Given the description of an element on the screen output the (x, y) to click on. 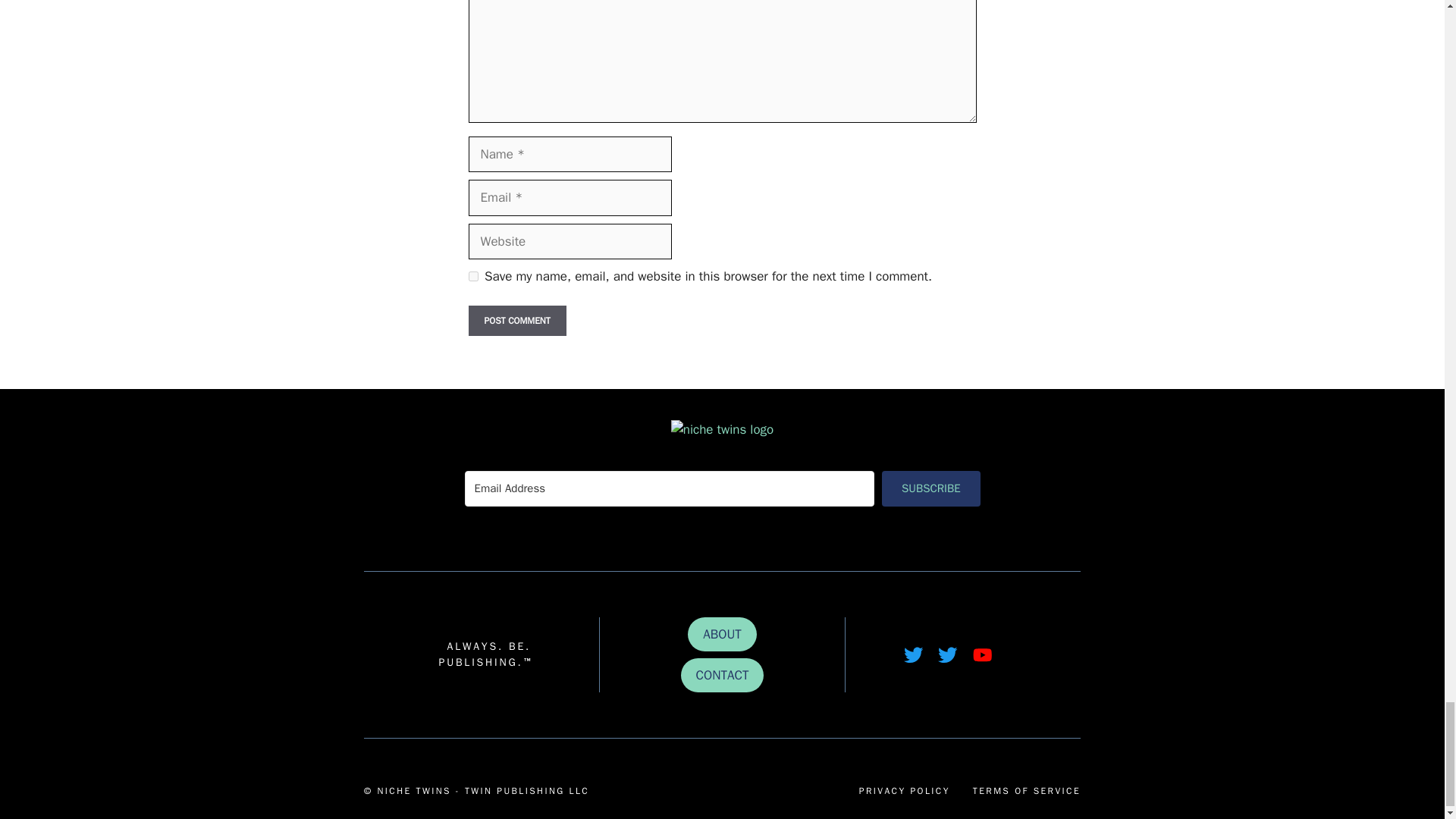
Post Comment (517, 320)
yes (473, 276)
ABOUT (722, 634)
CONTACT (722, 675)
Post Comment (517, 320)
SUBSCRIBE (930, 488)
